Given the description of an element on the screen output the (x, y) to click on. 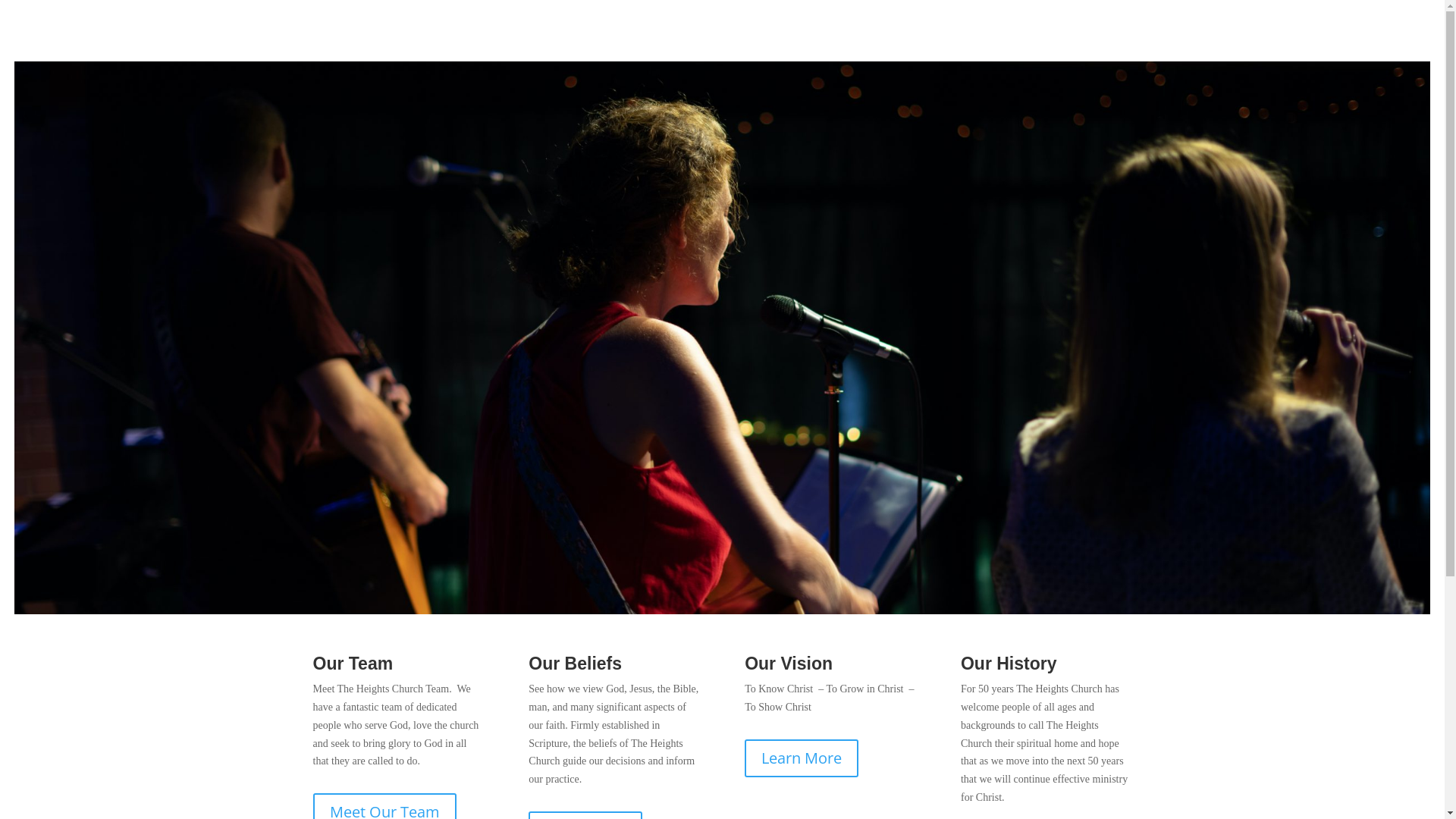
Anna Header Element type: hover (722, 337)
Learn More Element type: text (801, 758)
